Given the description of an element on the screen output the (x, y) to click on. 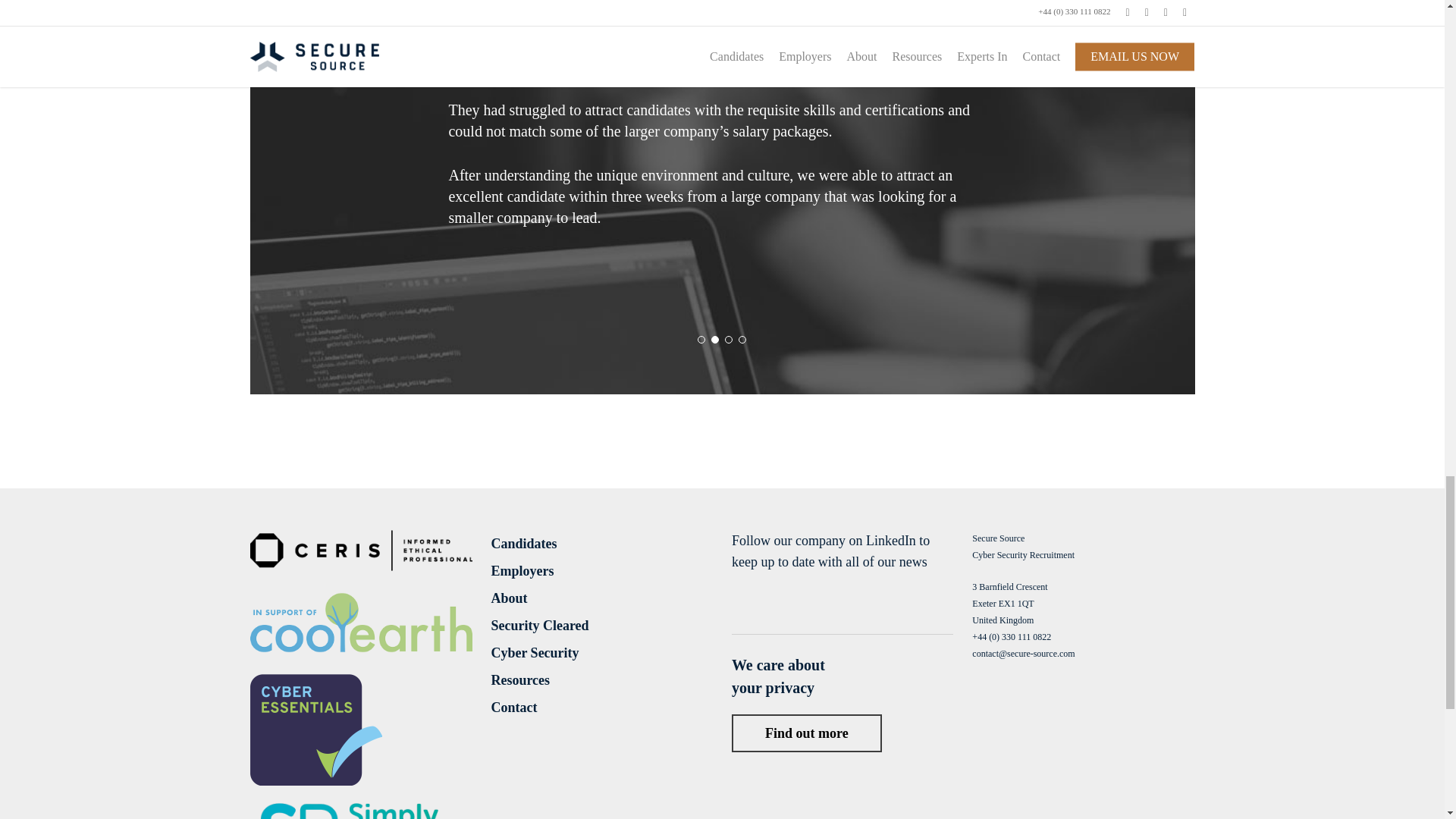
Security Cleared (601, 625)
Cyber Security (601, 652)
About (601, 598)
Find out more (807, 733)
Resources (601, 680)
Contact (601, 707)
Candidates (601, 543)
Employers (601, 570)
